Given the description of an element on the screen output the (x, y) to click on. 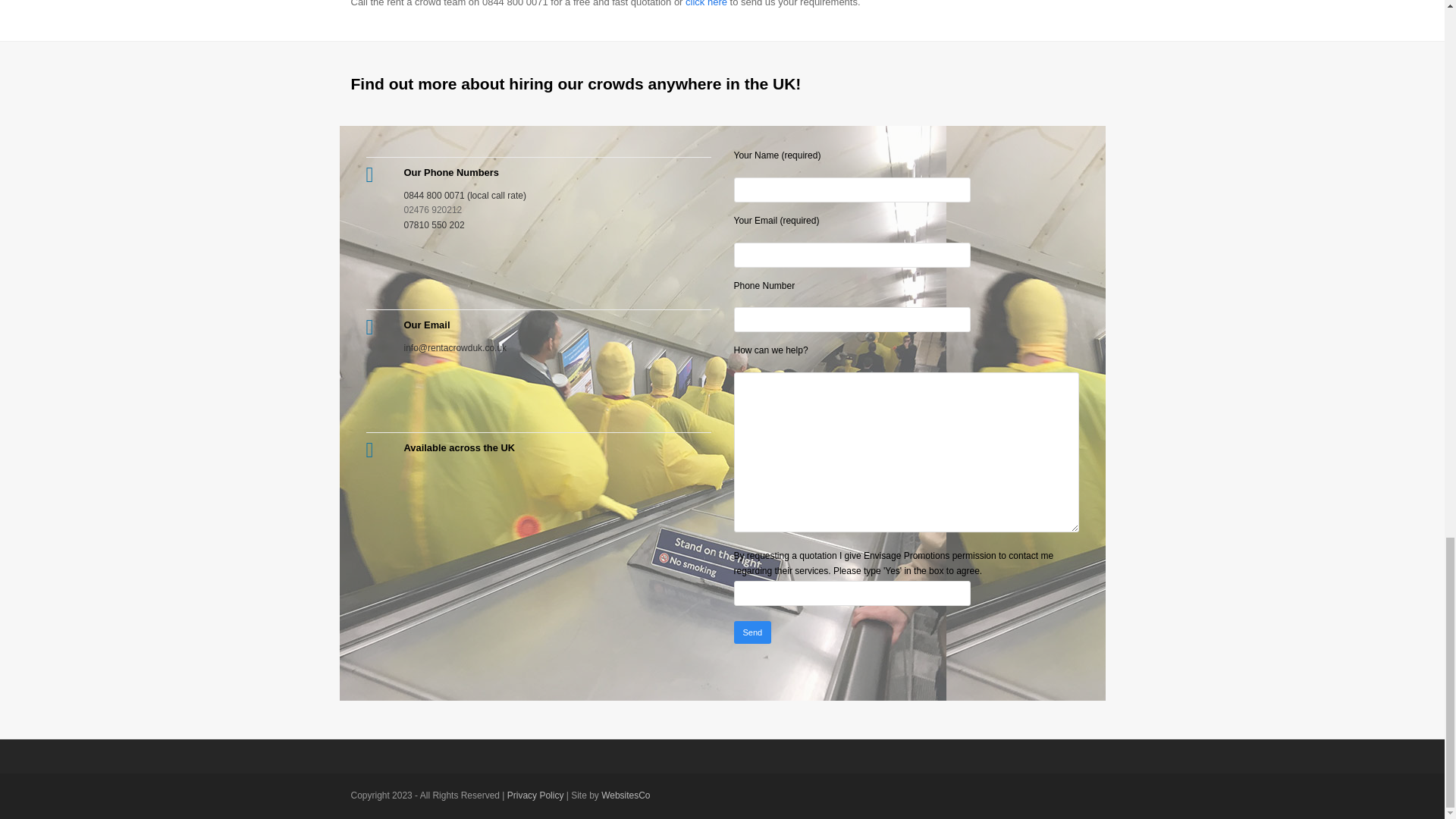
Send (752, 631)
